Given the description of an element on the screen output the (x, y) to click on. 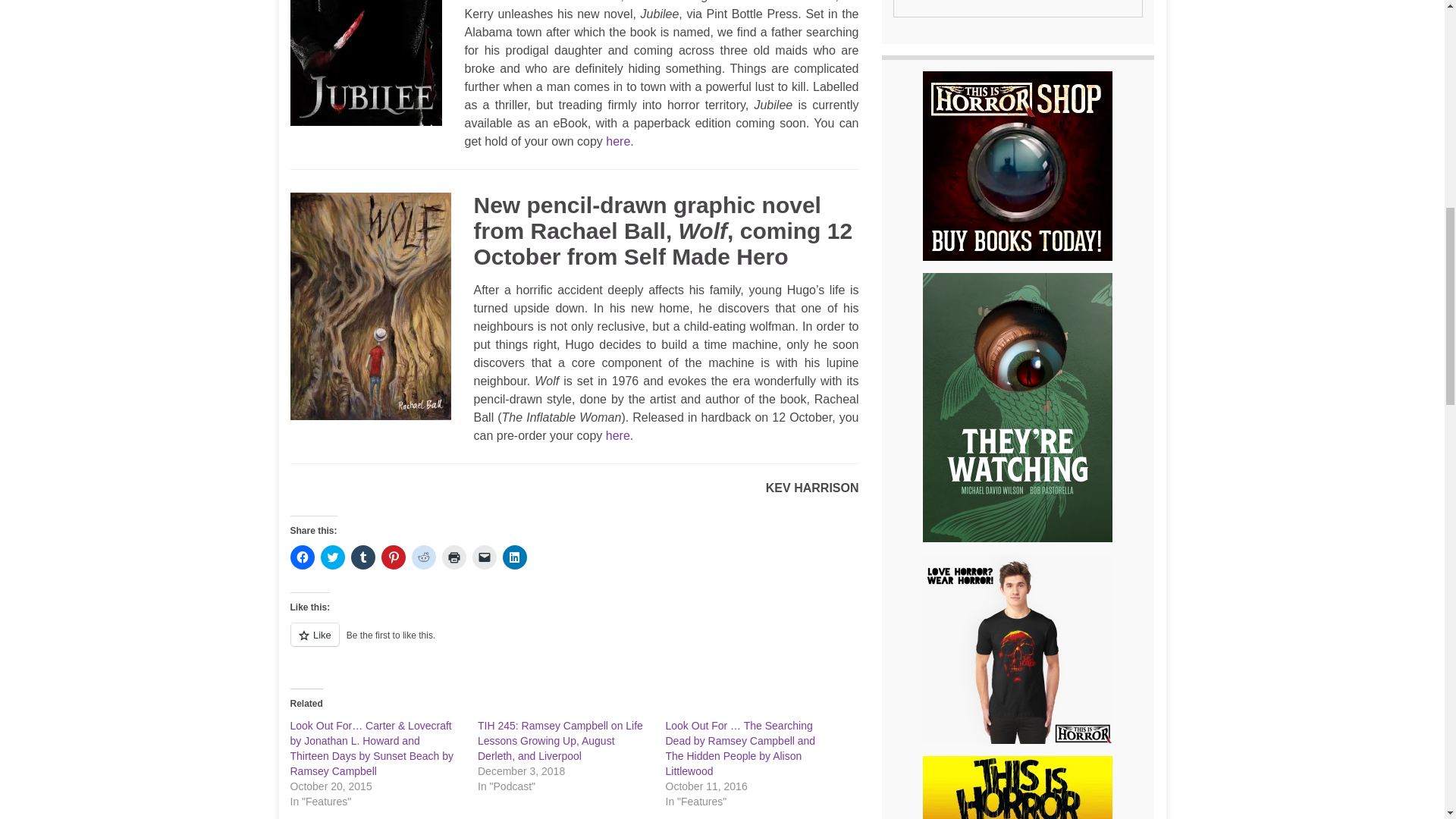
here (617, 435)
Click to share on Twitter (331, 557)
here (617, 141)
Click to share on Facebook (301, 557)
Click to share on Reddit (422, 557)
Click to print (453, 557)
Click to email a link to a friend (483, 557)
Click to share on Tumblr (362, 557)
Click to share on Pinterest (392, 557)
